Given the description of an element on the screen output the (x, y) to click on. 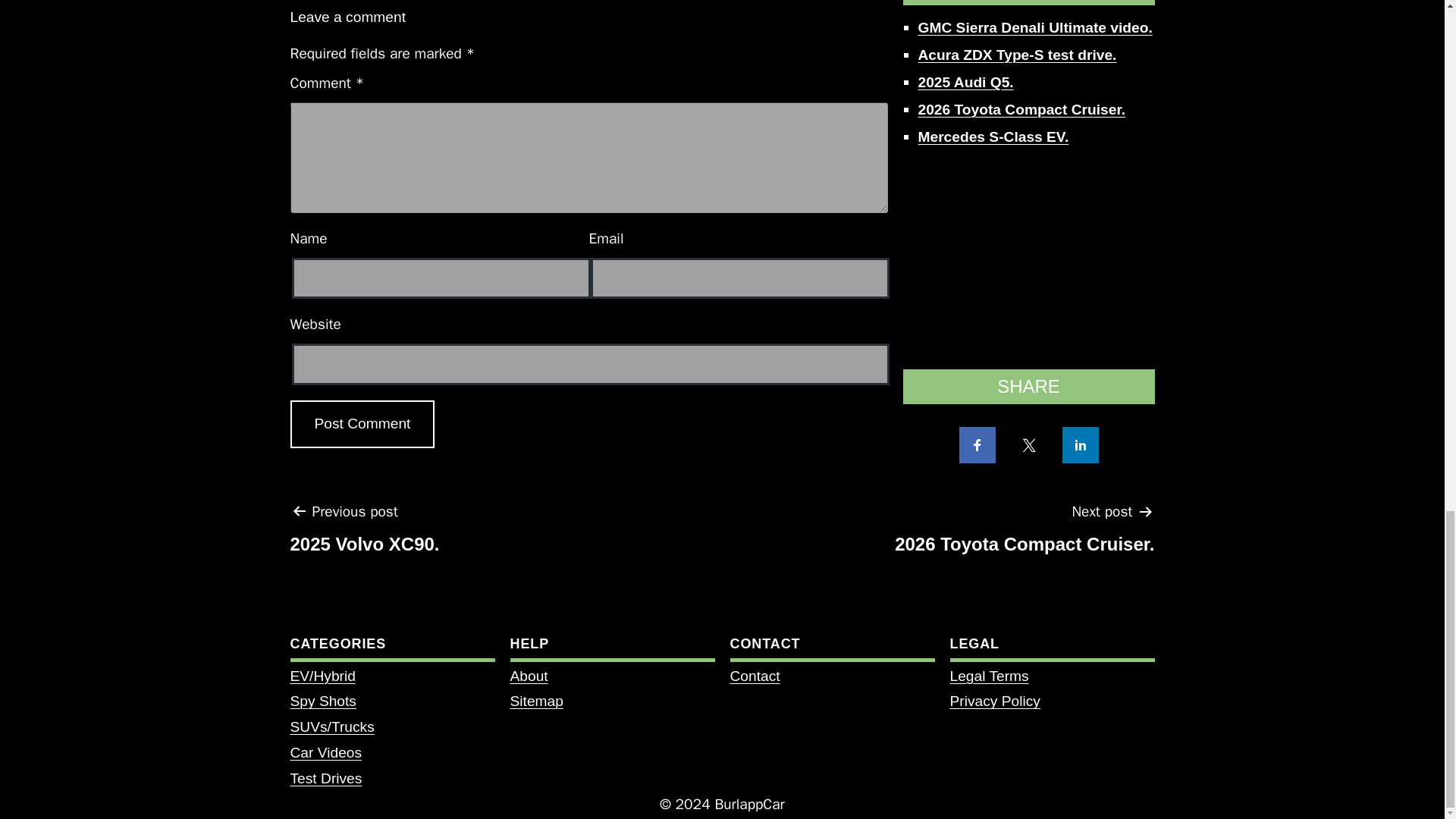
Post Comment (1024, 533)
Privacy Policy (361, 423)
Legal Terms (994, 700)
Car Videos (988, 675)
Post Comment (325, 752)
Test Drives (361, 423)
Sitemap (325, 778)
About (364, 533)
